Given the description of an element on the screen output the (x, y) to click on. 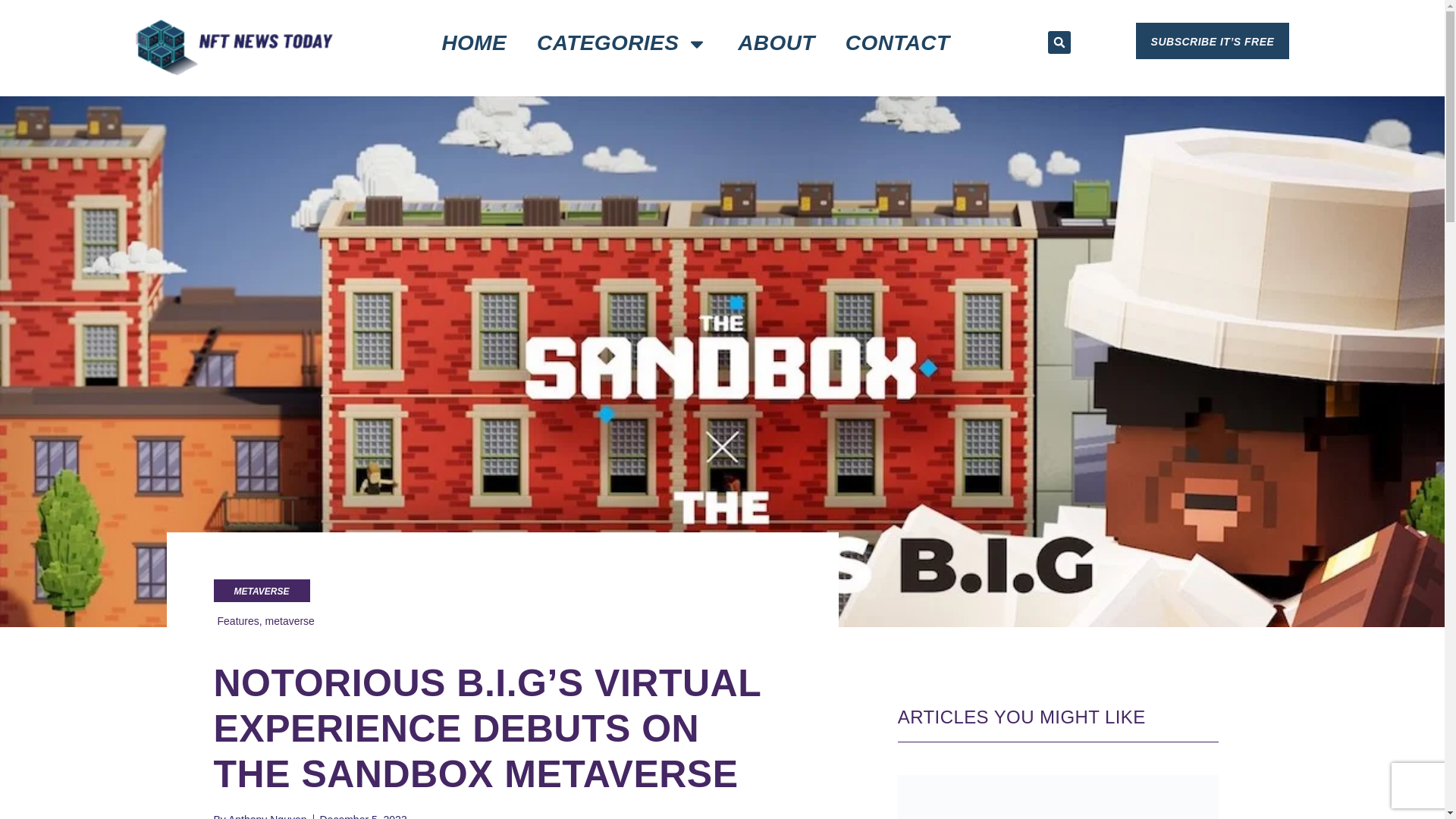
ABOUT (775, 43)
CATEGORIES (621, 43)
HOME (473, 43)
CONTACT (897, 43)
